Given the description of an element on the screen output the (x, y) to click on. 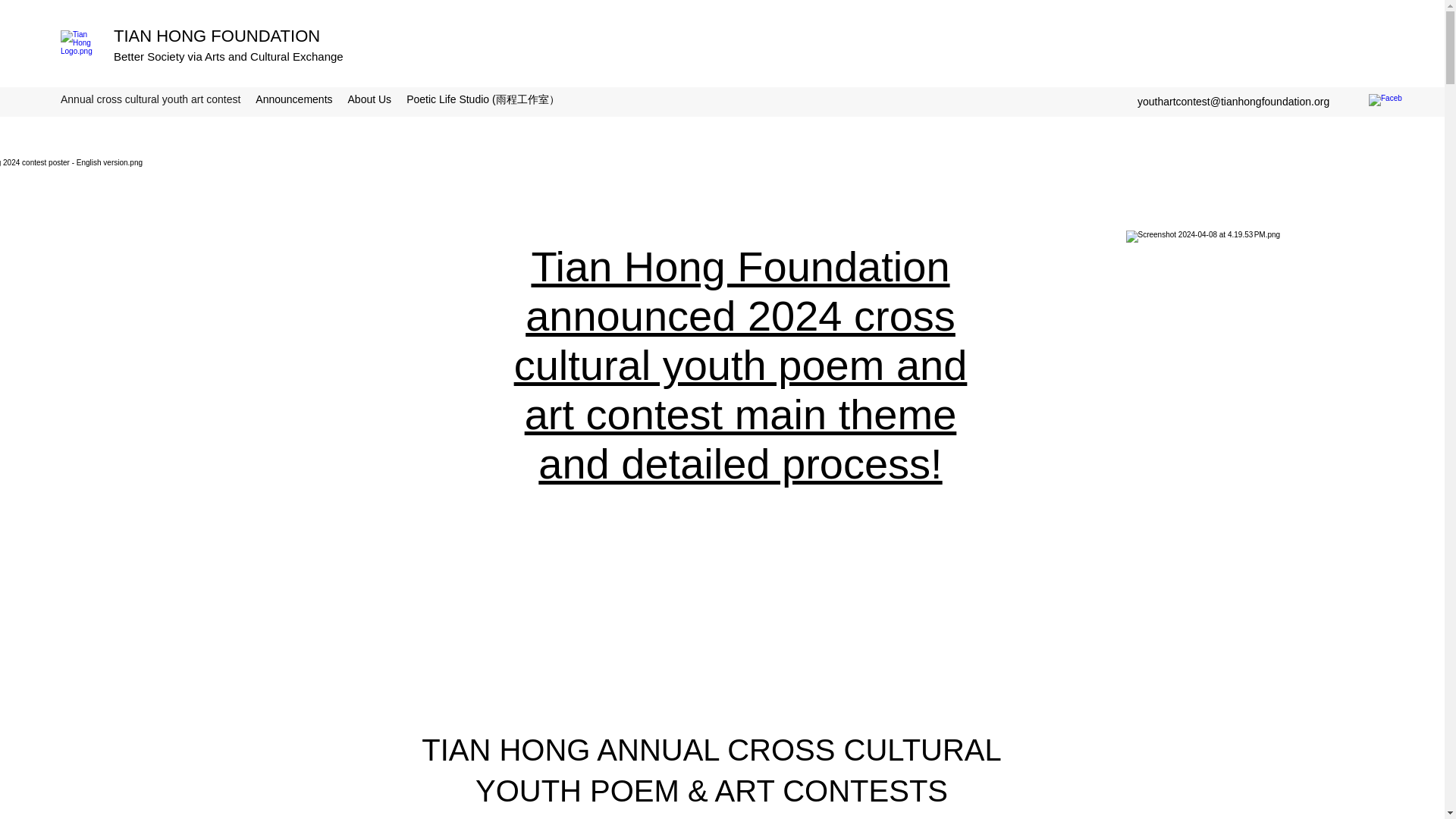
Annual cross cultural youth art contest (149, 101)
Groups (592, 101)
About Us (369, 101)
TIAN HONG FOUNDATION (216, 35)
Announcements (293, 101)
